Given the description of an element on the screen output the (x, y) to click on. 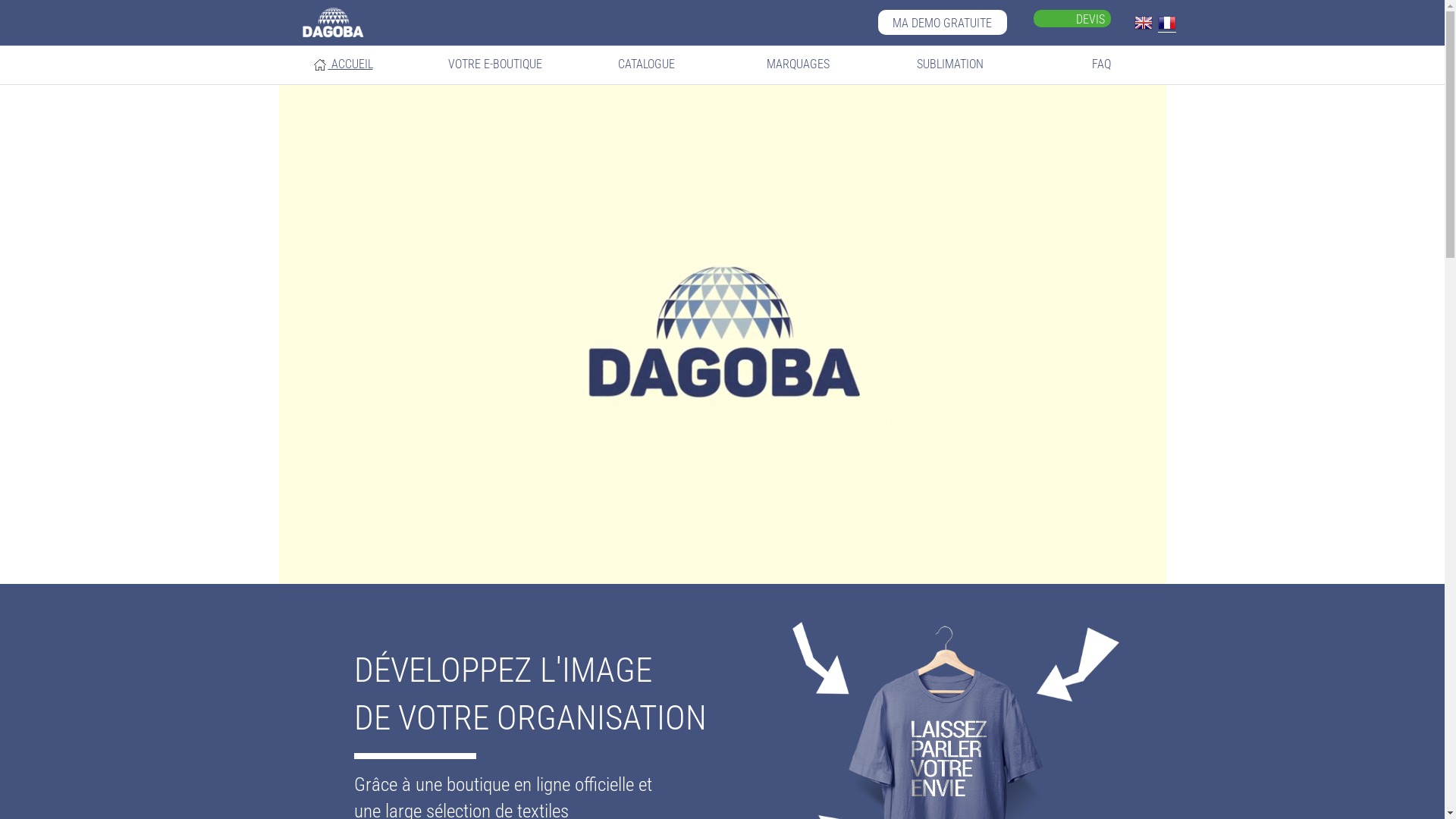
SUBLIMATION Element type: text (949, 64)
DEVIS Element type: text (1071, 18)
FAQ Element type: text (1100, 64)
MA DEMO GRATUITE Element type: text (942, 21)
VOTRE E-BOUTIQUE Element type: text (494, 64)
CATALOGUE Element type: text (645, 64)
DEVIS Element type: text (1090, 19)
MARQUAGES Element type: text (797, 64)
ACCUEIL Element type: text (342, 64)
